Given the description of an element on the screen output the (x, y) to click on. 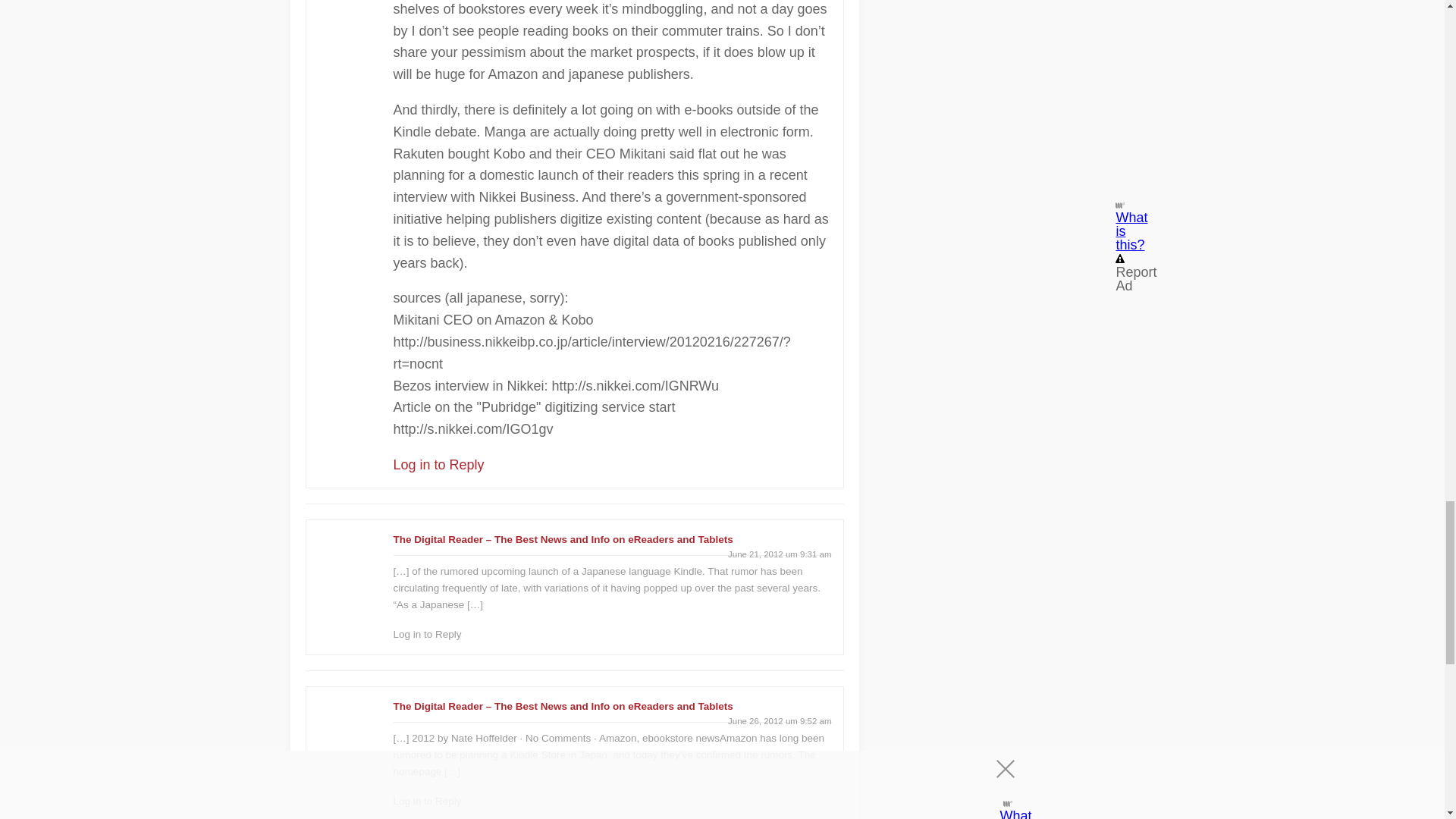
Log in to Reply (427, 633)
Log in to Reply (438, 464)
Log in to Reply (427, 800)
